Given the description of an element on the screen output the (x, y) to click on. 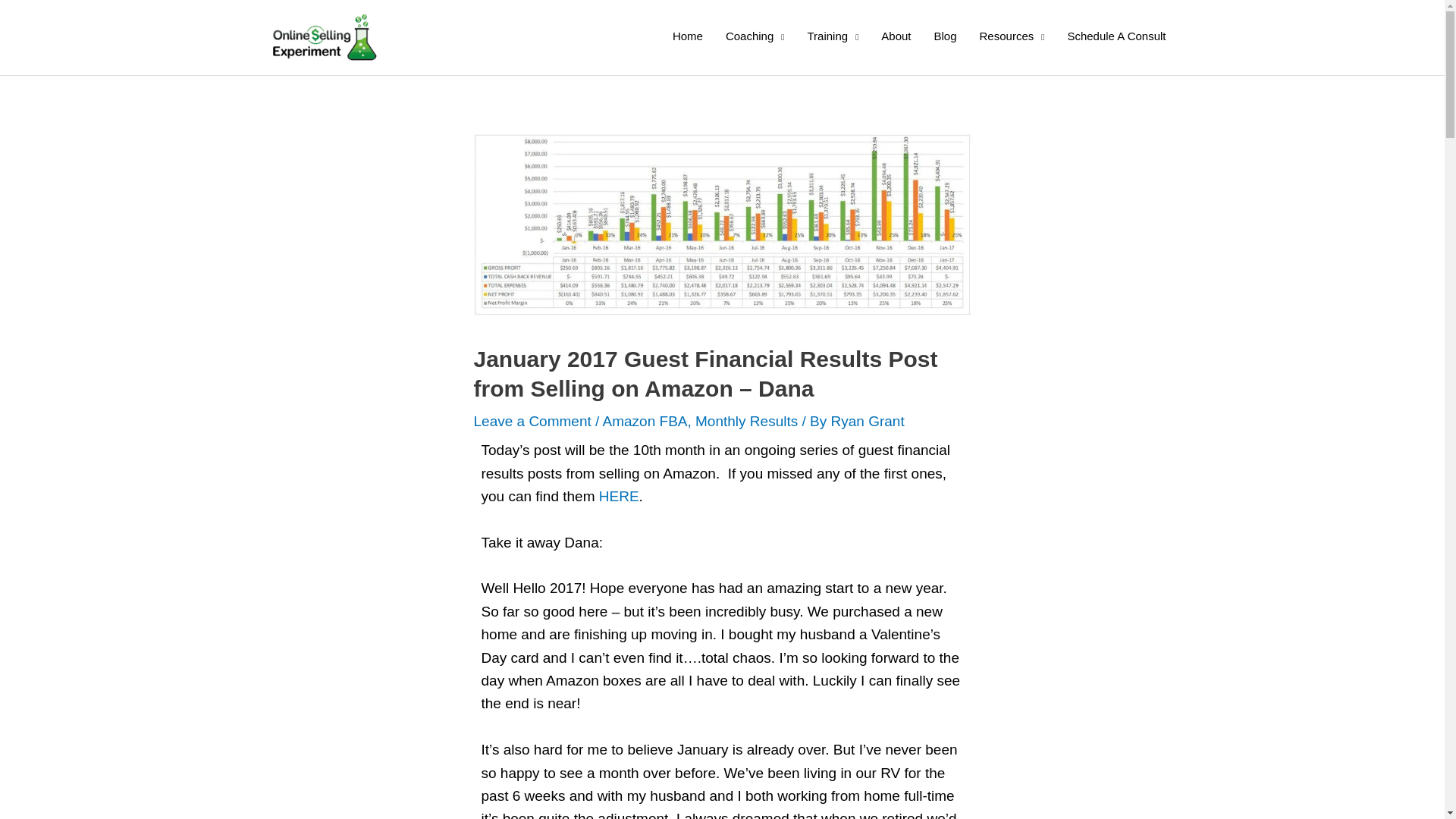
Coaching (755, 35)
Blog (944, 35)
About (895, 35)
Home (687, 35)
Schedule A Consult (1115, 35)
View all posts by Ryan Grant (867, 421)
Resources (1012, 35)
Training (831, 35)
